Given the description of an element on the screen output the (x, y) to click on. 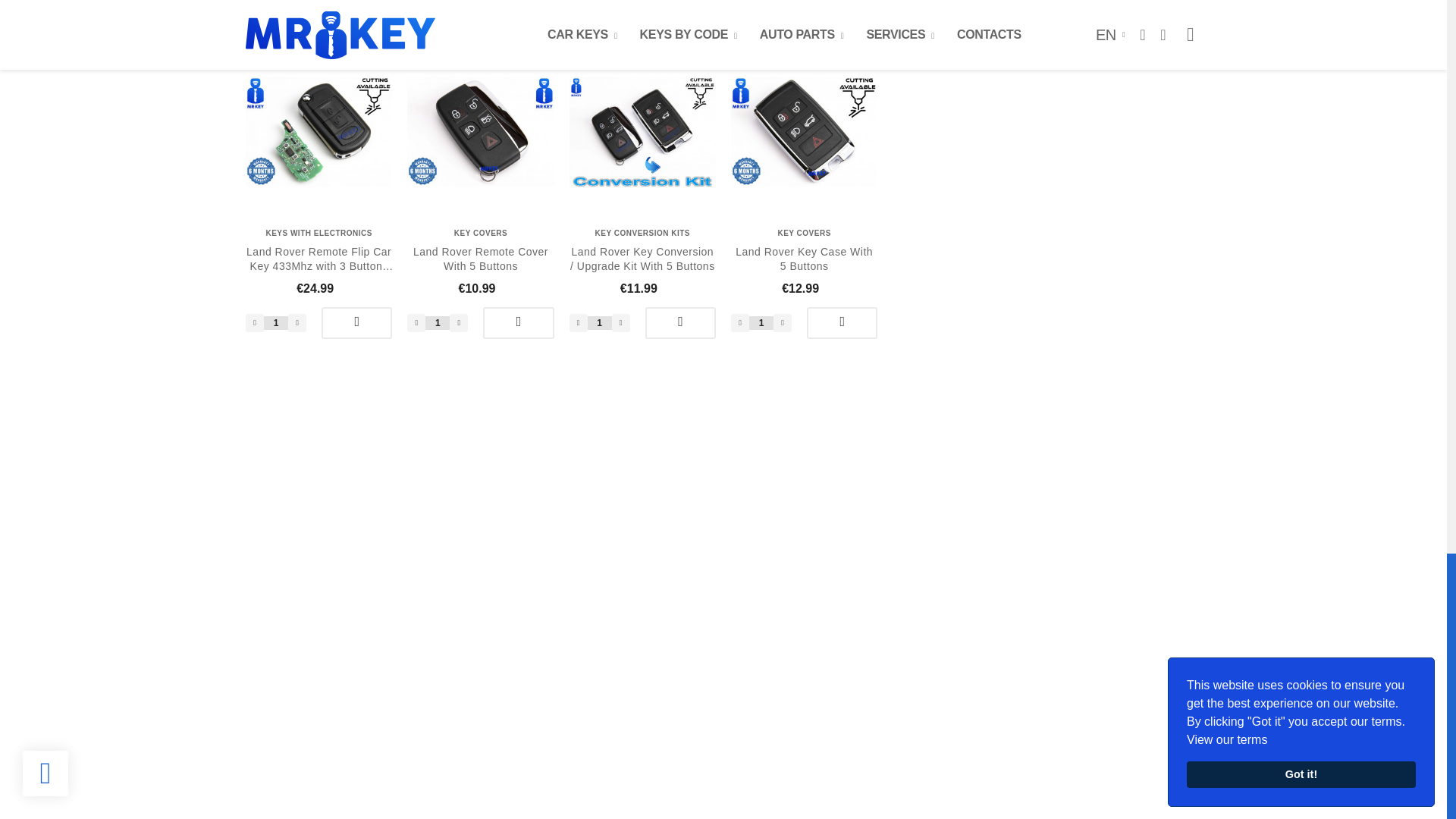
Add to cart (680, 323)
1 (599, 323)
Add to cart (356, 323)
Add to cart (841, 323)
Add to cart (518, 323)
1 (437, 323)
1 (761, 323)
1 (275, 323)
